Given the description of an element on the screen output the (x, y) to click on. 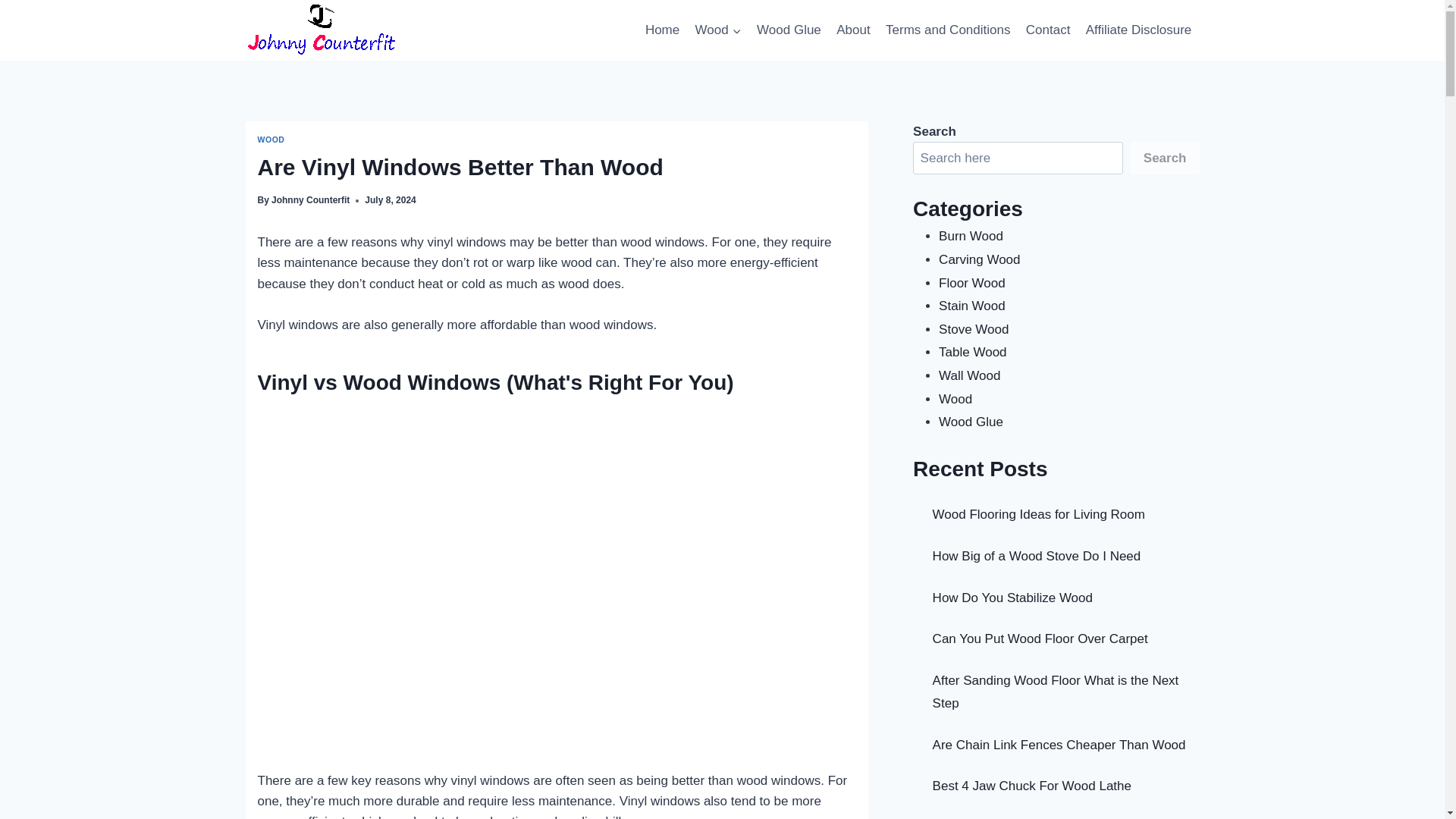
Wood Glue (788, 30)
Contact (1047, 30)
Wood (717, 30)
Terms and Conditions (947, 30)
WOOD (271, 139)
Johnny Counterfit (309, 199)
Home (662, 30)
Affiliate Disclosure (1138, 30)
About (852, 30)
